Given the description of an element on the screen output the (x, y) to click on. 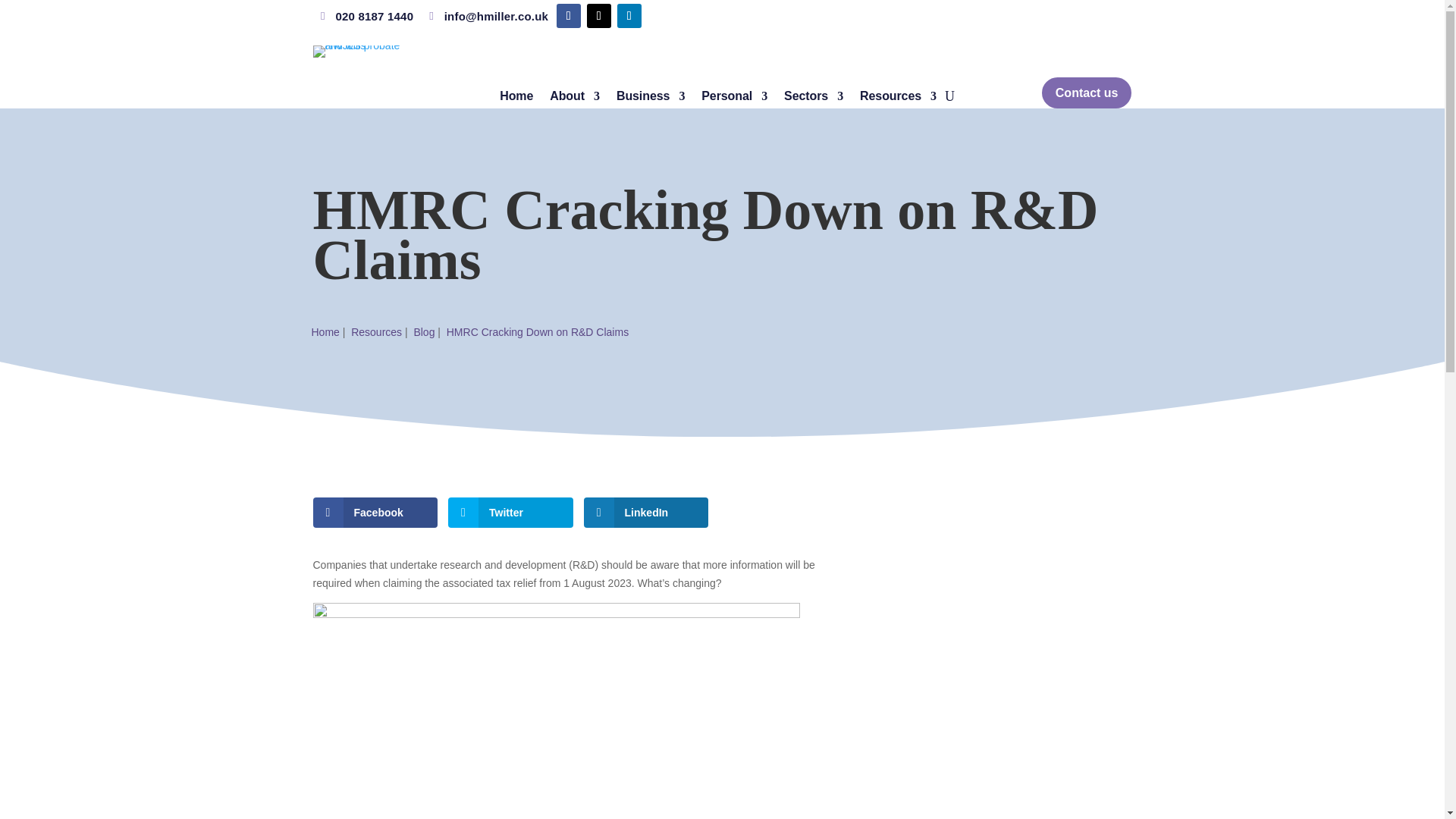
Follow on Facebook (568, 15)
Follow on X (598, 15)
Follow on LinkedIn (629, 15)
Asset 1 (363, 51)
